Given the description of an element on the screen output the (x, y) to click on. 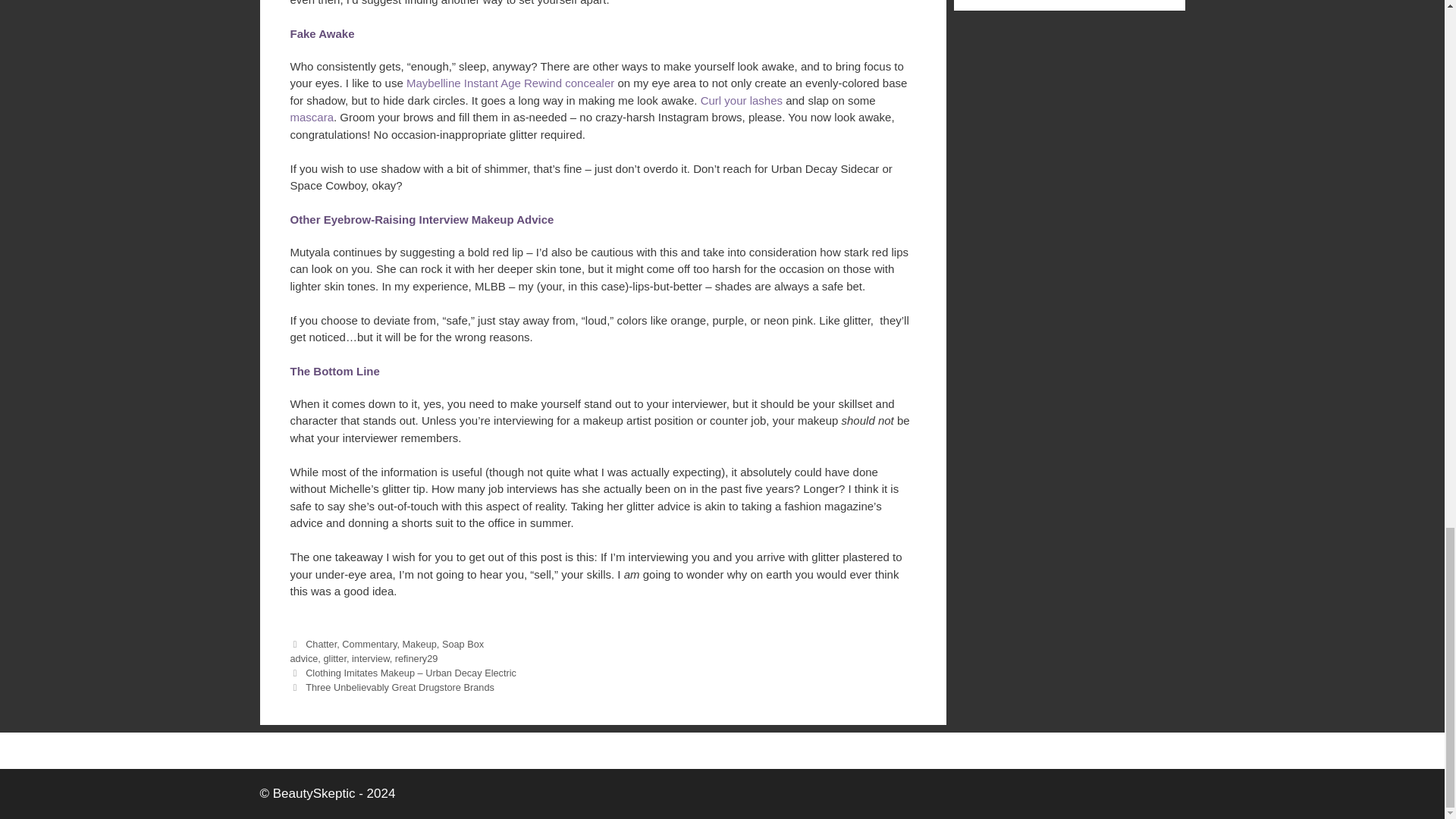
Maybelline Instant Age Rewind concealer (510, 82)
refinery29 (416, 658)
Makeup (418, 643)
Soap Box (462, 643)
mascara (311, 116)
interview (371, 658)
Three Unbelievably Great Drugstore Brands (400, 686)
glitter (334, 658)
Curl your lashes (741, 100)
Commentary (369, 643)
Chatter (320, 643)
advice (303, 658)
